Given the description of an element on the screen output the (x, y) to click on. 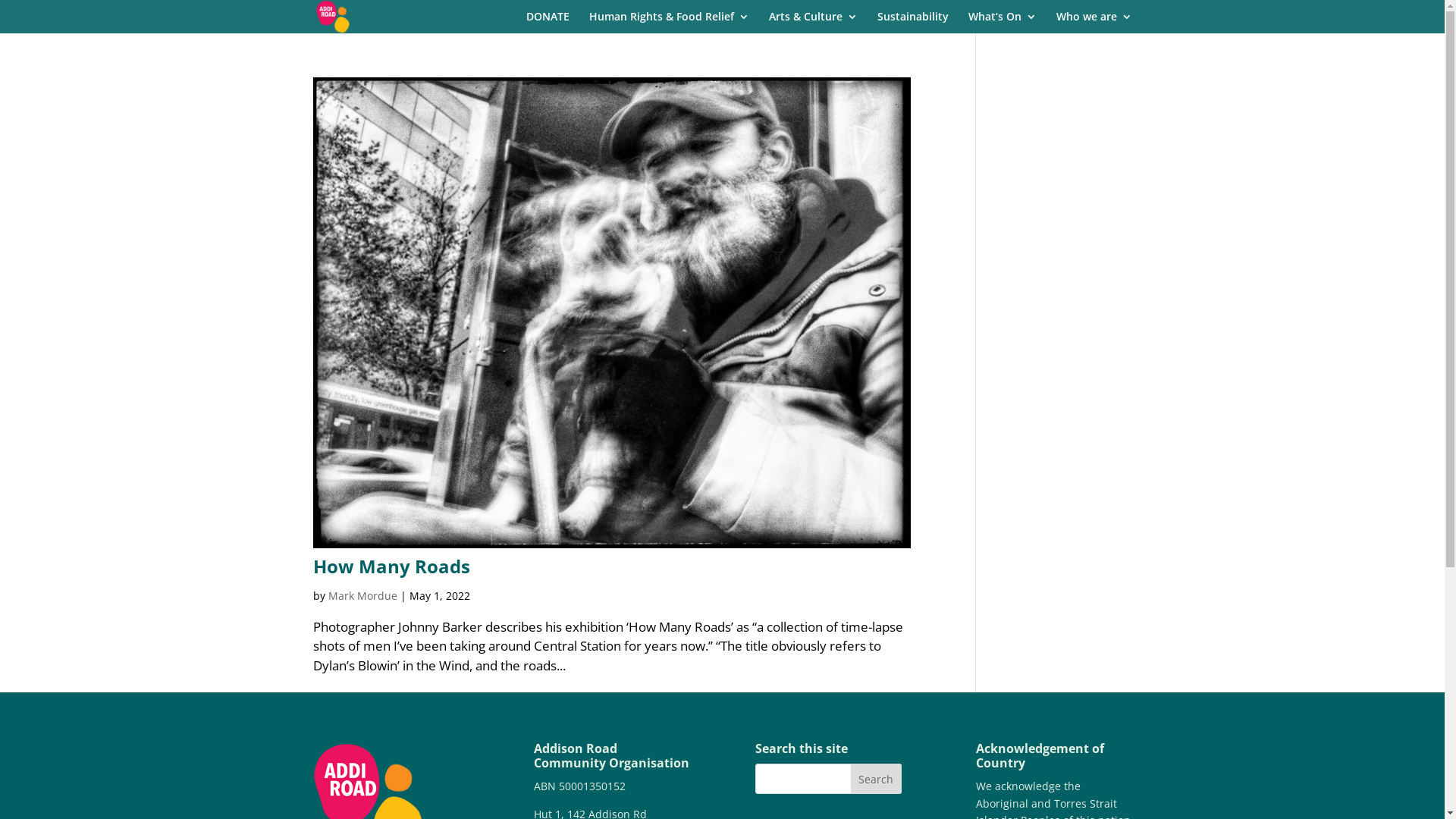
Sustainability Element type: text (911, 22)
Human Rights & Food Relief Element type: text (668, 22)
Who we are Element type: text (1093, 22)
DONATE Element type: text (547, 22)
How Many Roads Element type: text (390, 565)
Search Element type: text (876, 778)
Mark Mordue Element type: text (361, 595)
Arts & Culture Element type: text (812, 22)
